Given the description of an element on the screen output the (x, y) to click on. 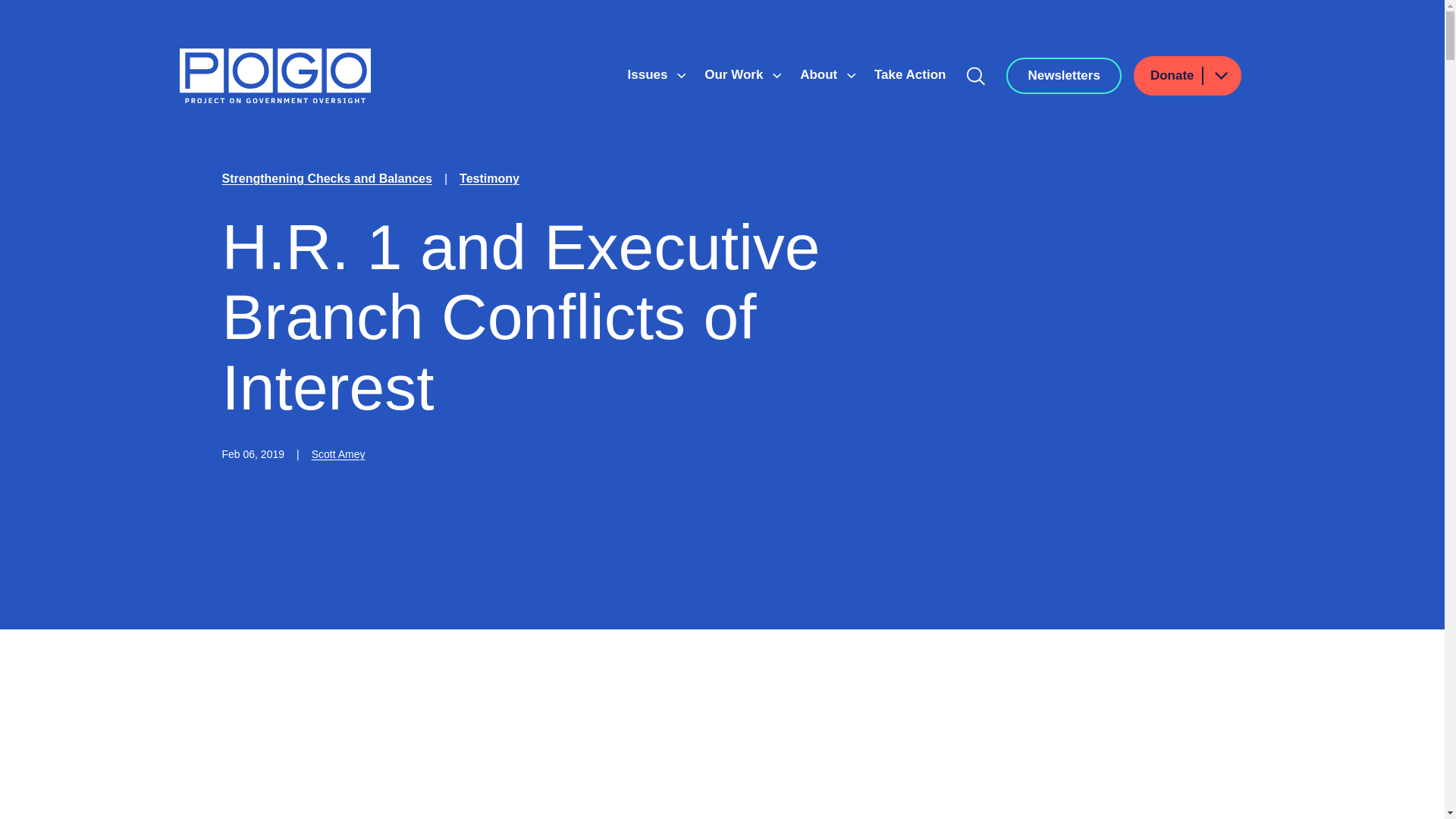
Show submenu for Issues (681, 75)
Home (274, 75)
Take Action (909, 74)
Issues (649, 74)
About (820, 74)
Show submenu for Donate (1220, 75)
Our Work (735, 74)
Show submenu for About (851, 75)
Search (976, 75)
Newsletters (1063, 75)
